Given the description of an element on the screen output the (x, y) to click on. 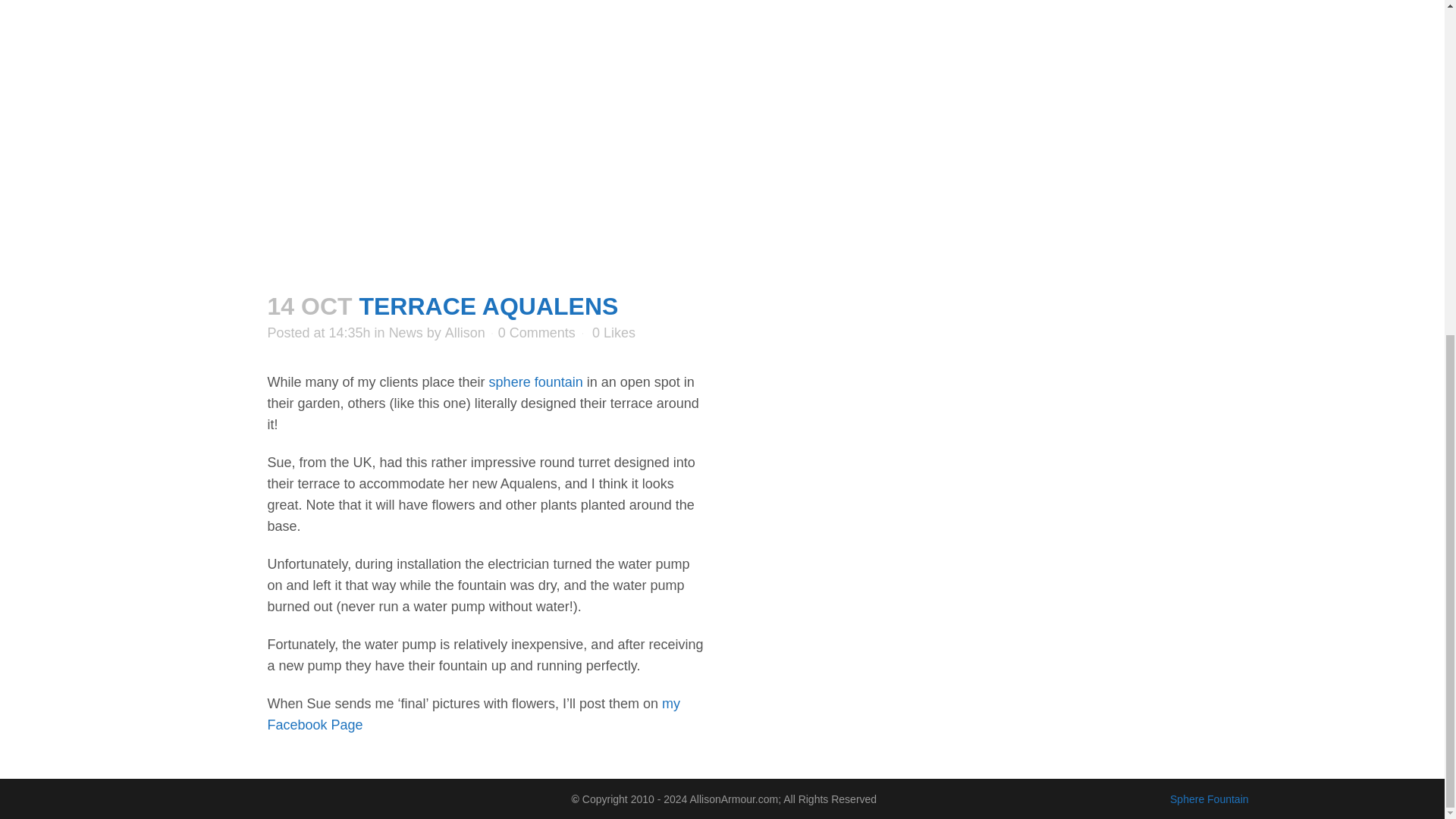
Allison (464, 332)
sphere fountain (536, 381)
my Facebook Page (472, 714)
0 Comments (536, 332)
Like this (613, 332)
0 Likes (613, 332)
Fountains (536, 381)
Sphere Fountain (1209, 798)
News (405, 332)
